Given the description of an element on the screen output the (x, y) to click on. 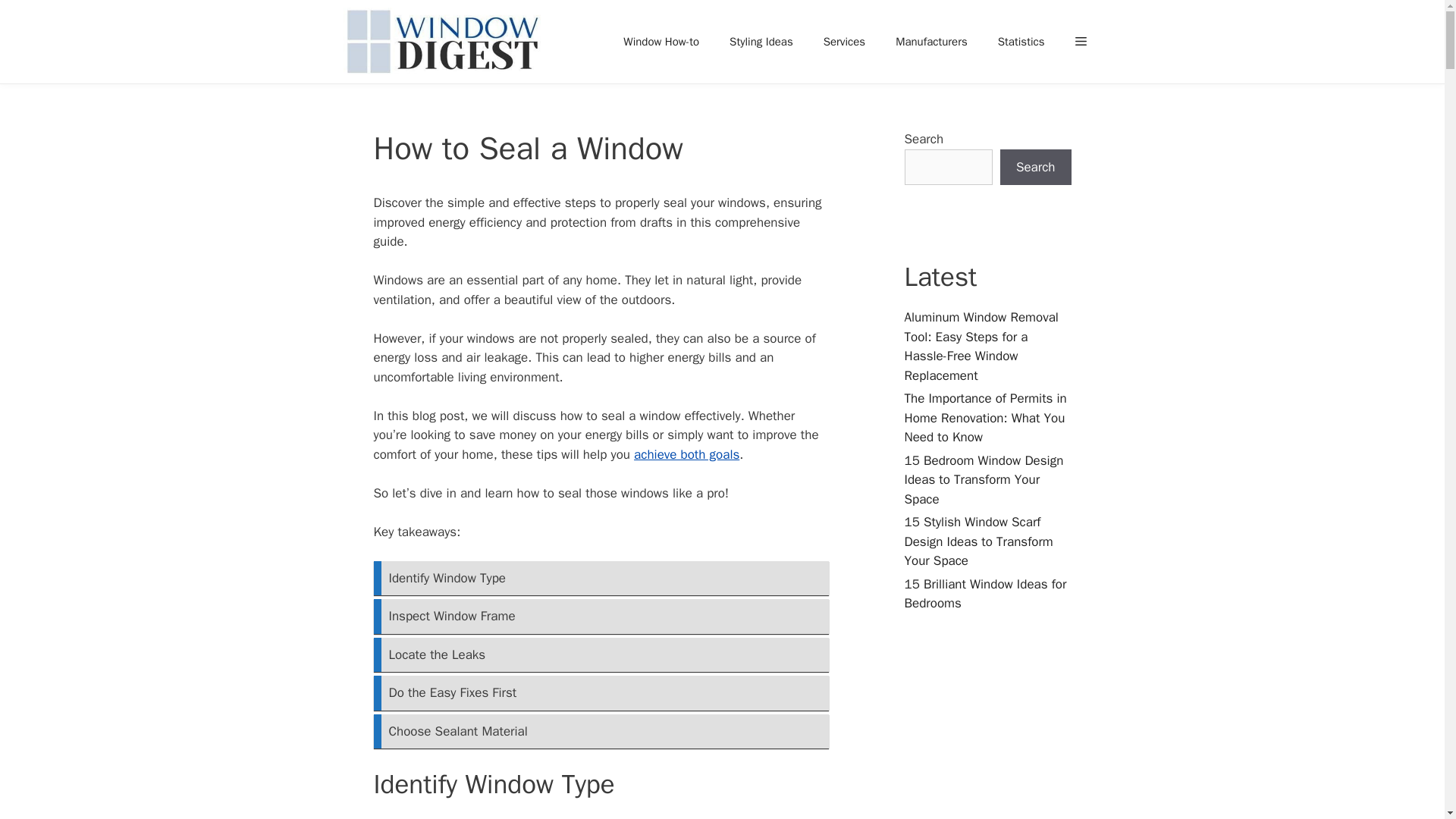
Services (844, 41)
achieve both goals (686, 454)
Window Digest (443, 41)
Window How-to (661, 41)
Styling Ideas (761, 41)
Manufacturers (931, 41)
Statistics (1020, 41)
Window Digest (446, 41)
